Given the description of an element on the screen output the (x, y) to click on. 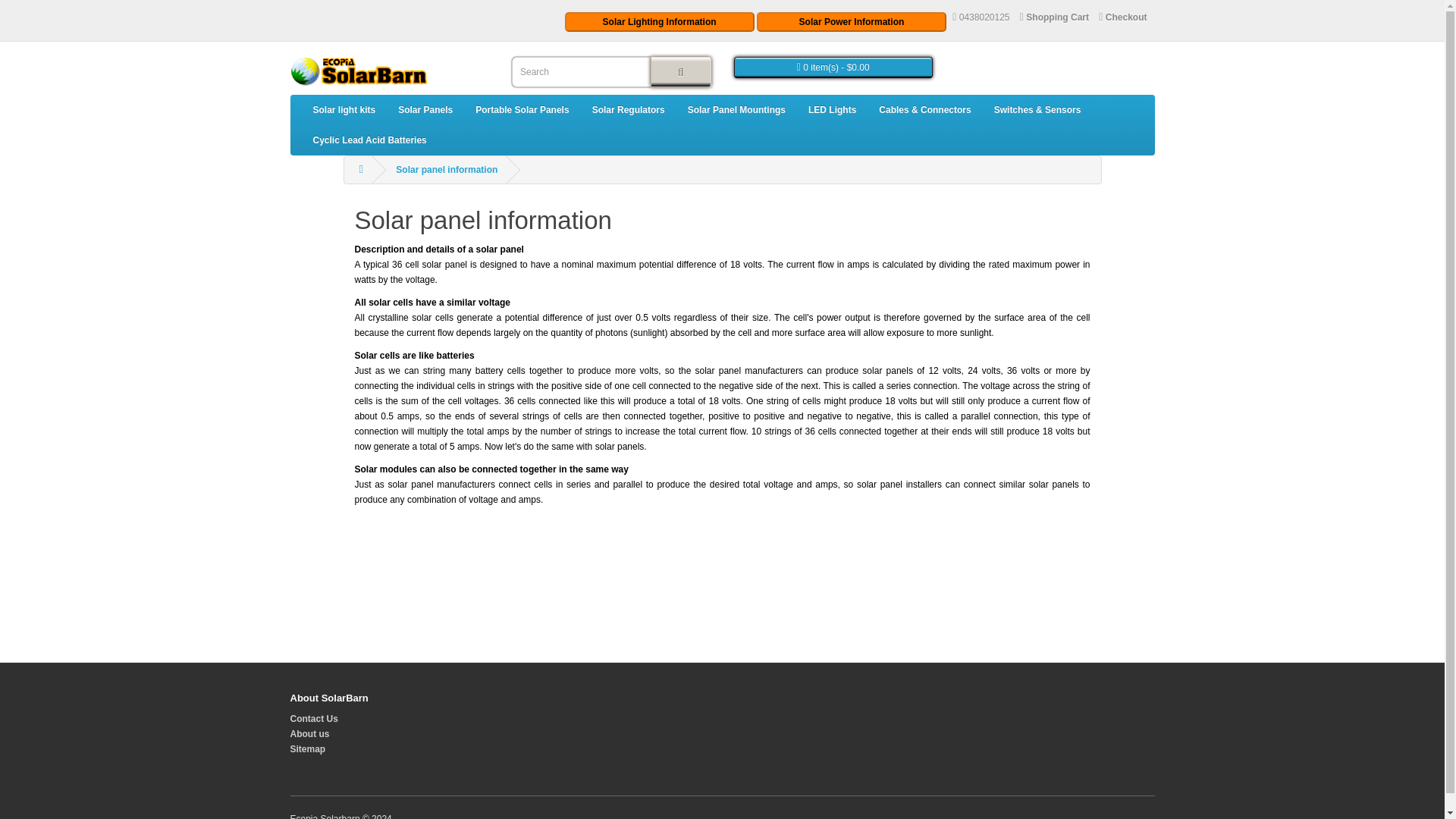
Shopping Cart (1054, 17)
Checkout (1123, 17)
About us (309, 733)
Cyclic Lead Acid Batteries (369, 140)
Solar Panels (425, 110)
Sitemap (306, 748)
Portable Solar Panels (521, 110)
Solar Lighting Information (659, 21)
Contact Us (313, 718)
Solar Panel Mountings (736, 110)
Solar light kits (344, 110)
Solar Power Information (851, 21)
Solar panel information (446, 169)
Solar Regulators (628, 110)
Shopping Cart (1054, 17)
